Given the description of an element on the screen output the (x, y) to click on. 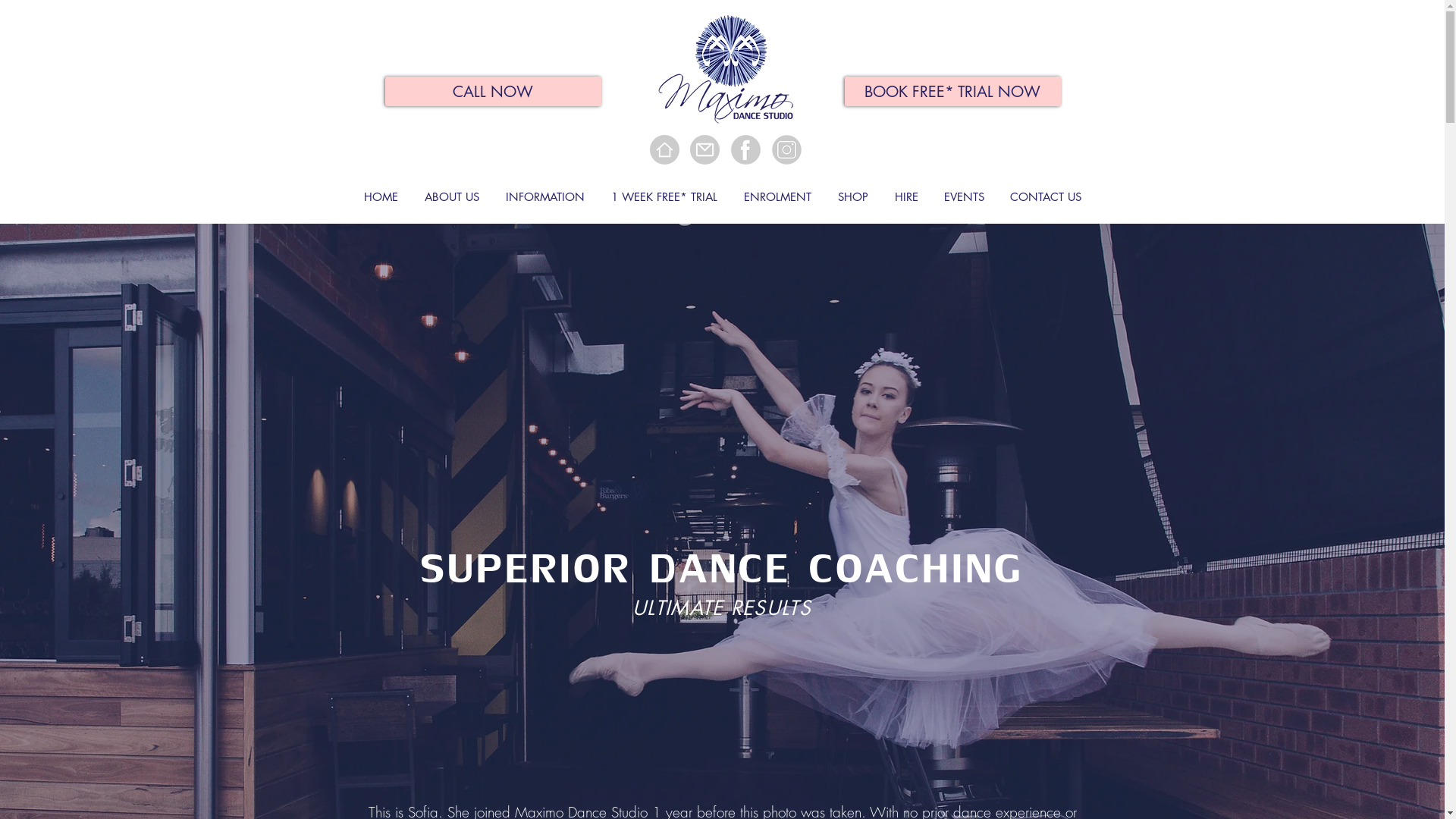
SHOP Element type: text (853, 197)
1 WEEK FREE* TRIAL Element type: text (663, 197)
ABOUT US Element type: text (451, 197)
BOOK FREE* TRIAL NOW Element type: text (952, 91)
HOME Element type: text (380, 197)
CALL NOW Element type: text (493, 91)
EVENTS Element type: text (964, 197)
CONTACT US Element type: text (1044, 197)
